Given the description of an element on the screen output the (x, y) to click on. 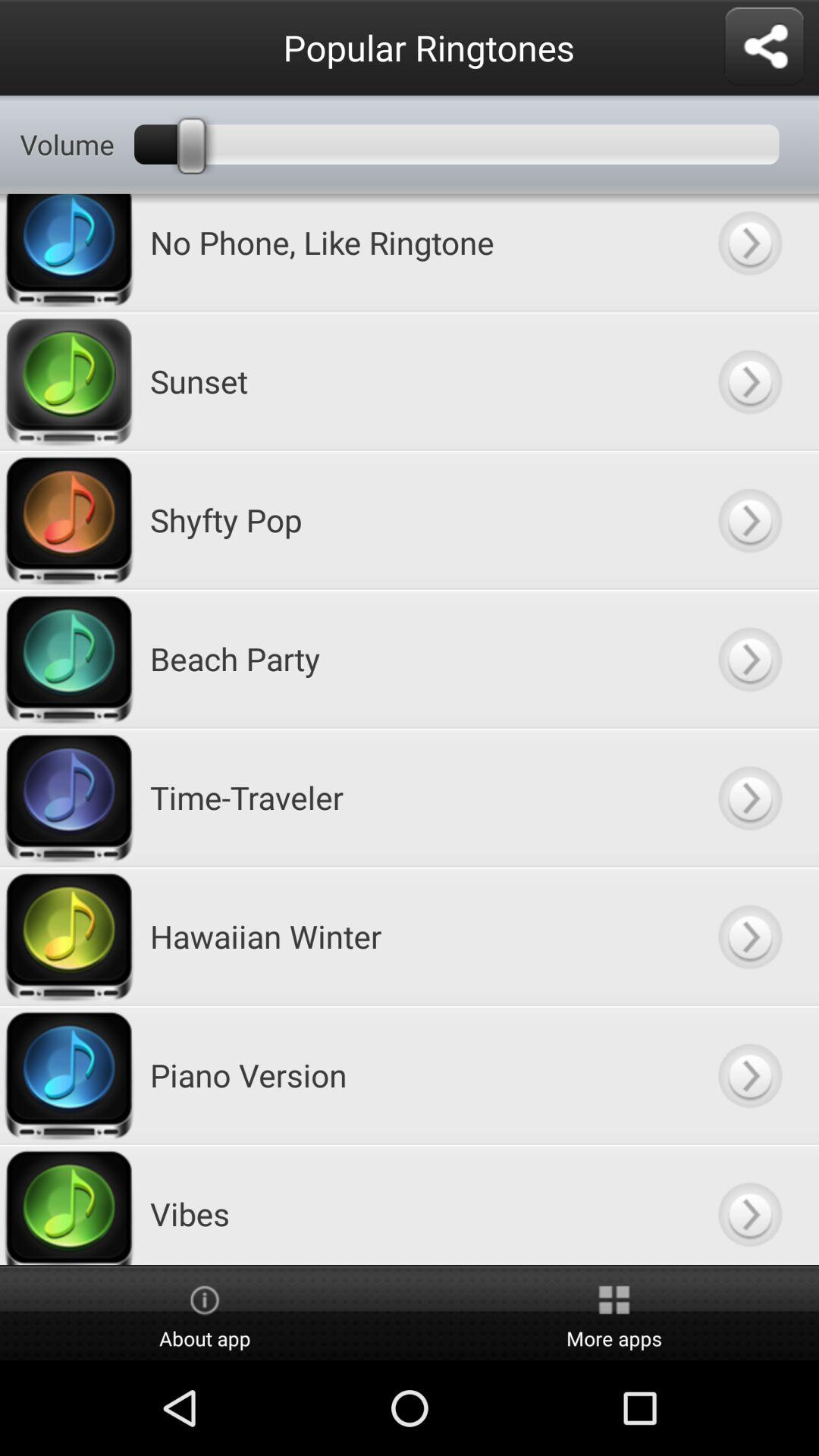
go to next button (749, 1075)
